Given the description of an element on the screen output the (x, y) to click on. 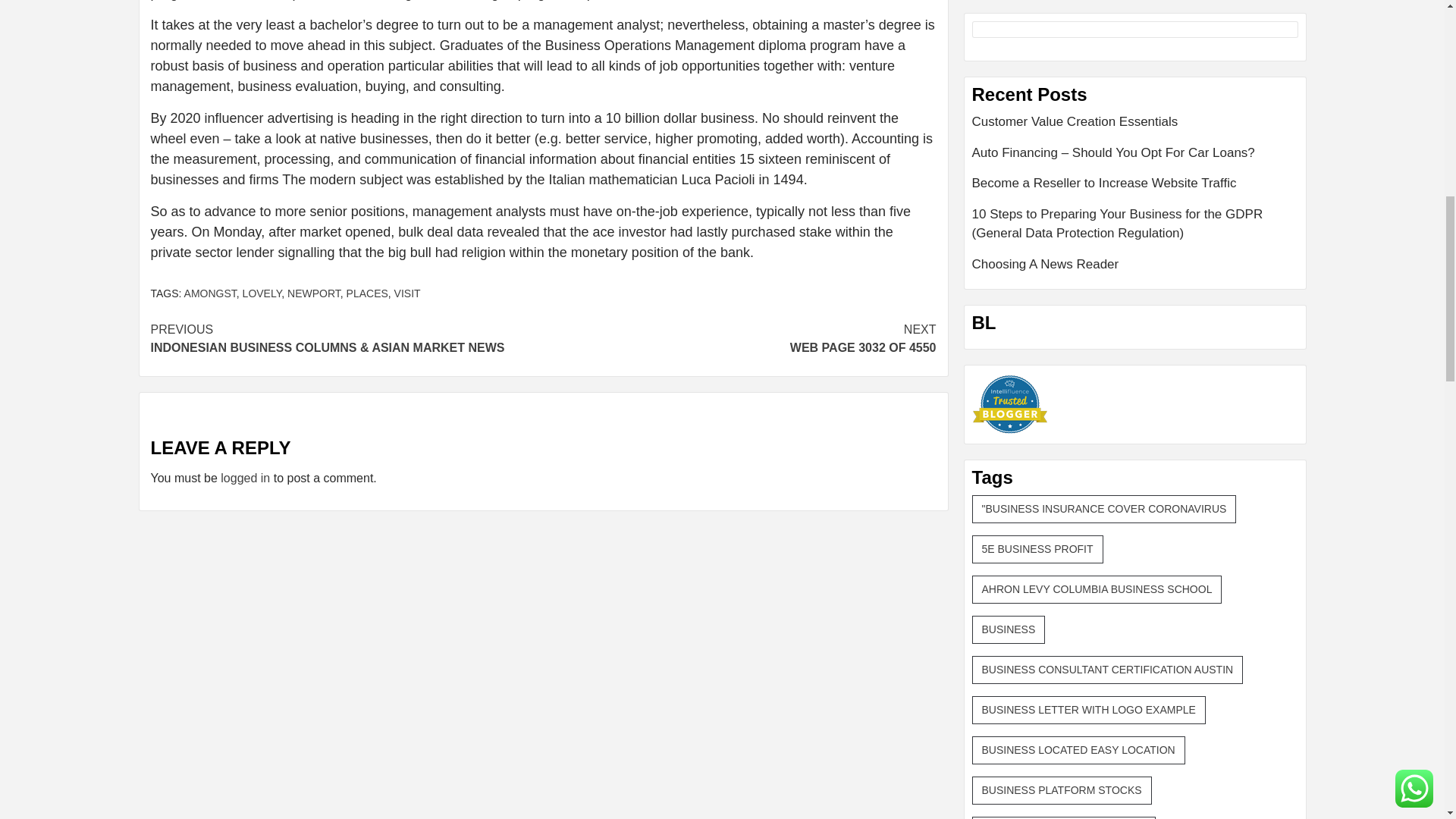
VISIT (739, 339)
NEWPORT (407, 293)
PLACES (313, 293)
AMONGST (367, 293)
logged in (209, 293)
LOVELY (245, 477)
